Given the description of an element on the screen output the (x, y) to click on. 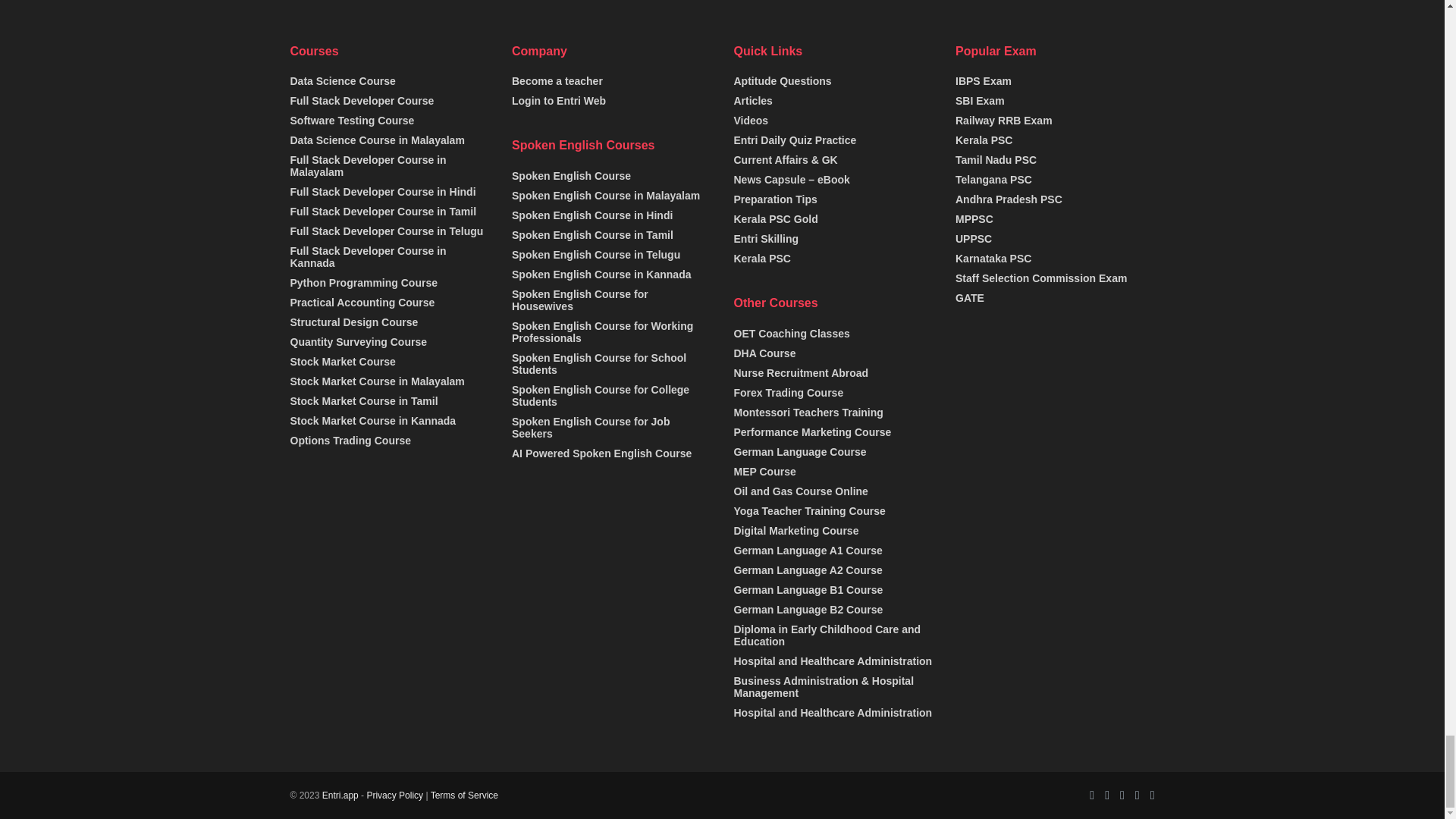
Terms of Service (463, 795)
Entri (339, 795)
